Given the description of an element on the screen output the (x, y) to click on. 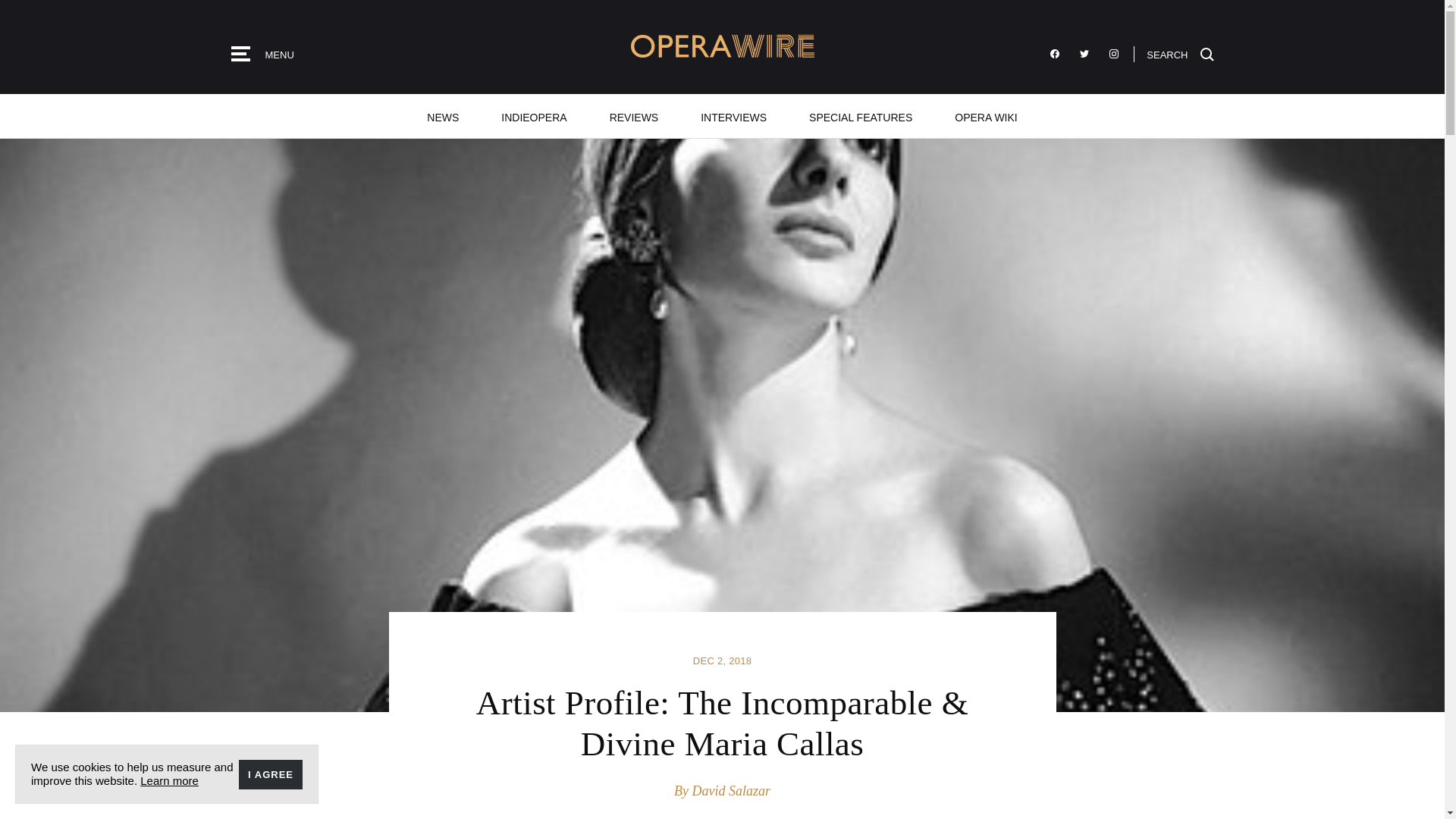
SEARCH (1179, 53)
Learn more (168, 780)
OPERA WIKI (985, 116)
INTERVIEWS (733, 116)
SPECIAL FEATURES (860, 116)
INDIEOPERA (533, 116)
OperaWire (721, 46)
Like OperaWire on Facebook (1054, 53)
REVIEWS (633, 116)
Follow OperaWire on Twitter (1084, 53)
NEWS (443, 116)
David Salazar (730, 790)
I AGREE (270, 774)
Follow OperaWire on Instagram (1113, 53)
